Given the description of an element on the screen output the (x, y) to click on. 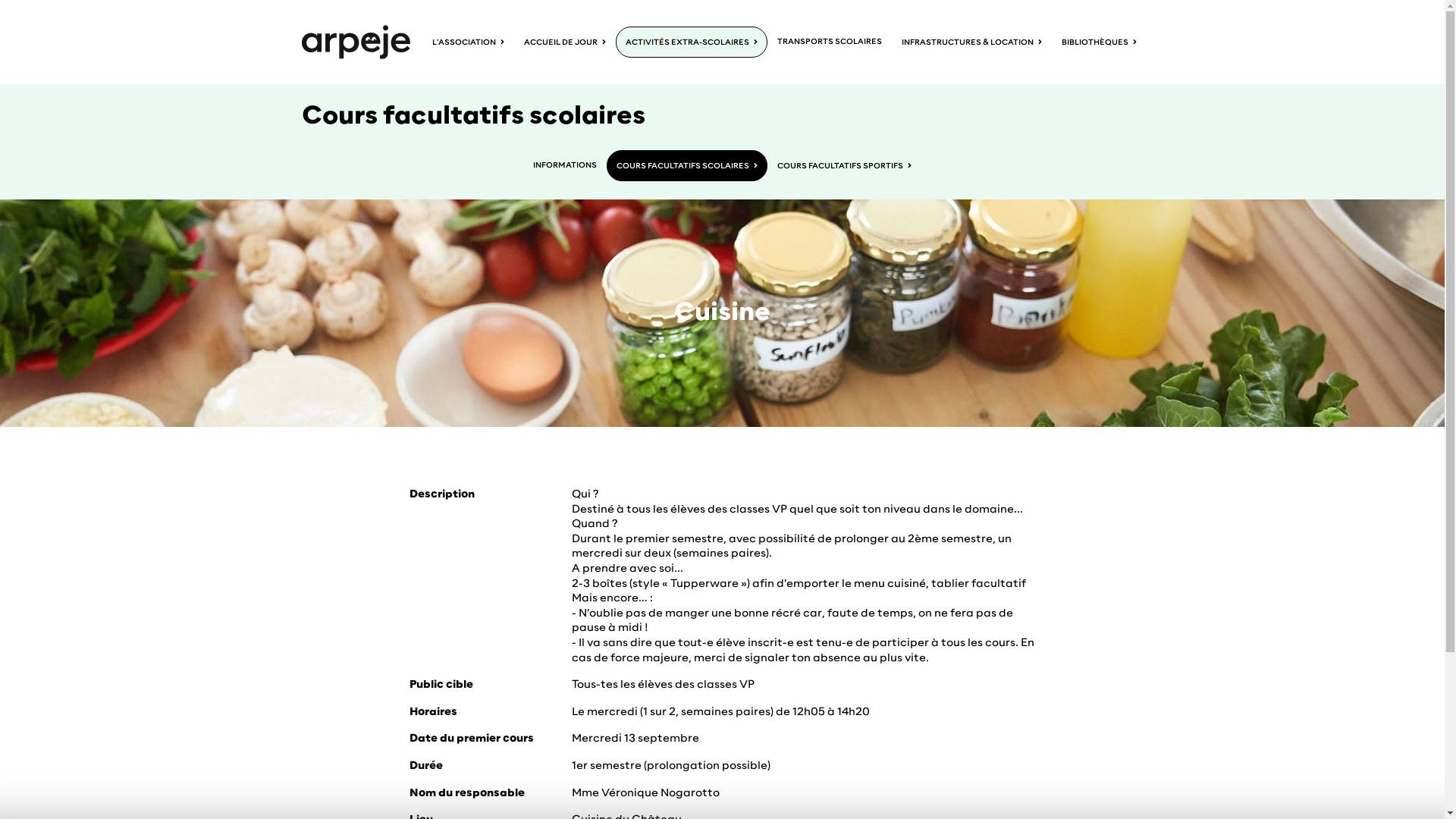
L'ASSOCIATION Element type: text (468, 41)
COURS FACULTATIFS SCOLAIRES Element type: text (686, 165)
ACCUEIL DE JOUR Element type: text (564, 41)
COURS FACULTATIFS SPORTIFS Element type: text (844, 165)
TRANSPORTS SCOLAIRES Element type: text (829, 41)
INFRASTRUCTURES & LOCATION Element type: text (971, 41)
INFORMATIONS Element type: text (564, 165)
